Given the description of an element on the screen output the (x, y) to click on. 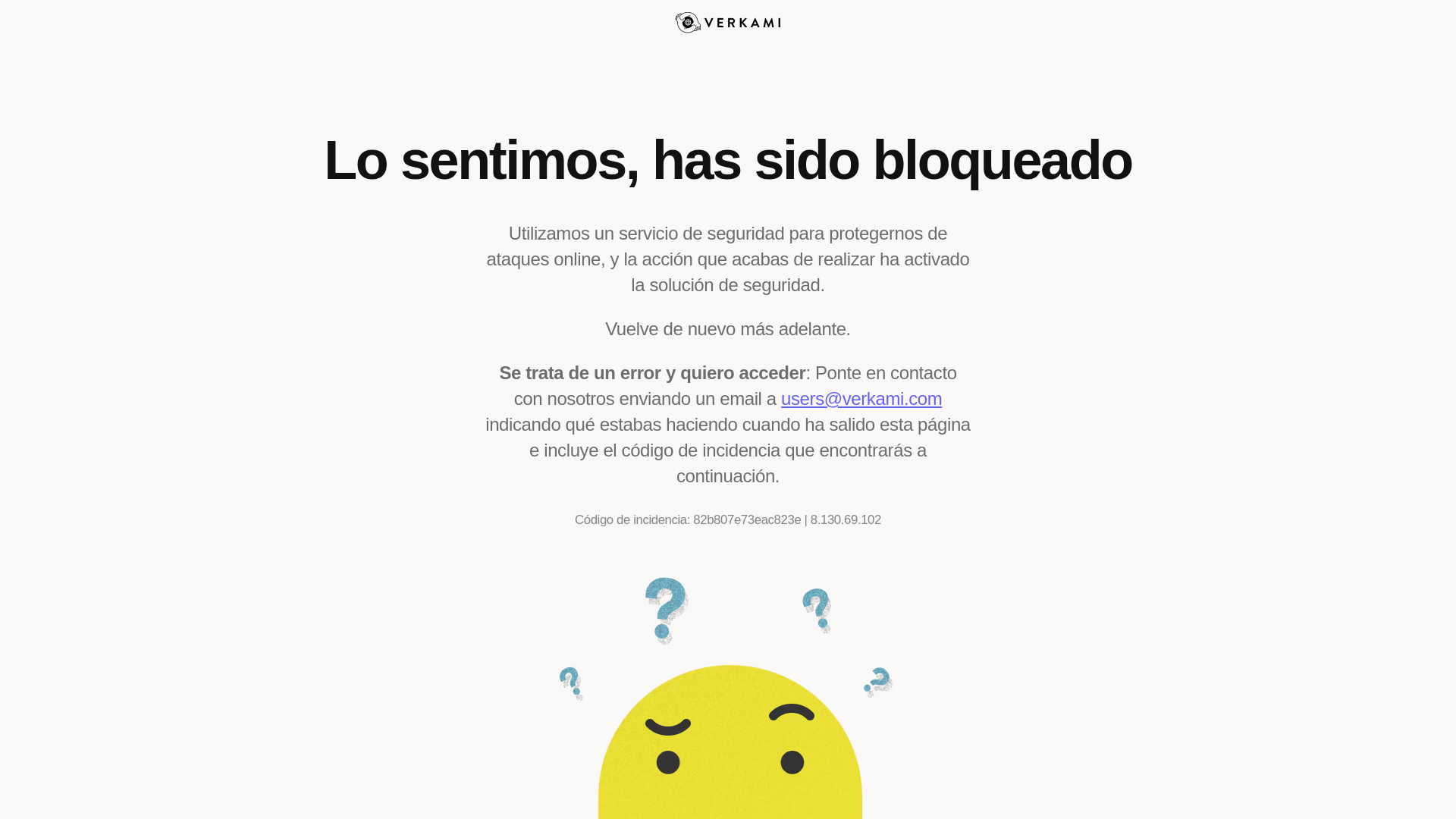
users@verkami.com Element type: text (861, 398)
